Given the description of an element on the screen output the (x, y) to click on. 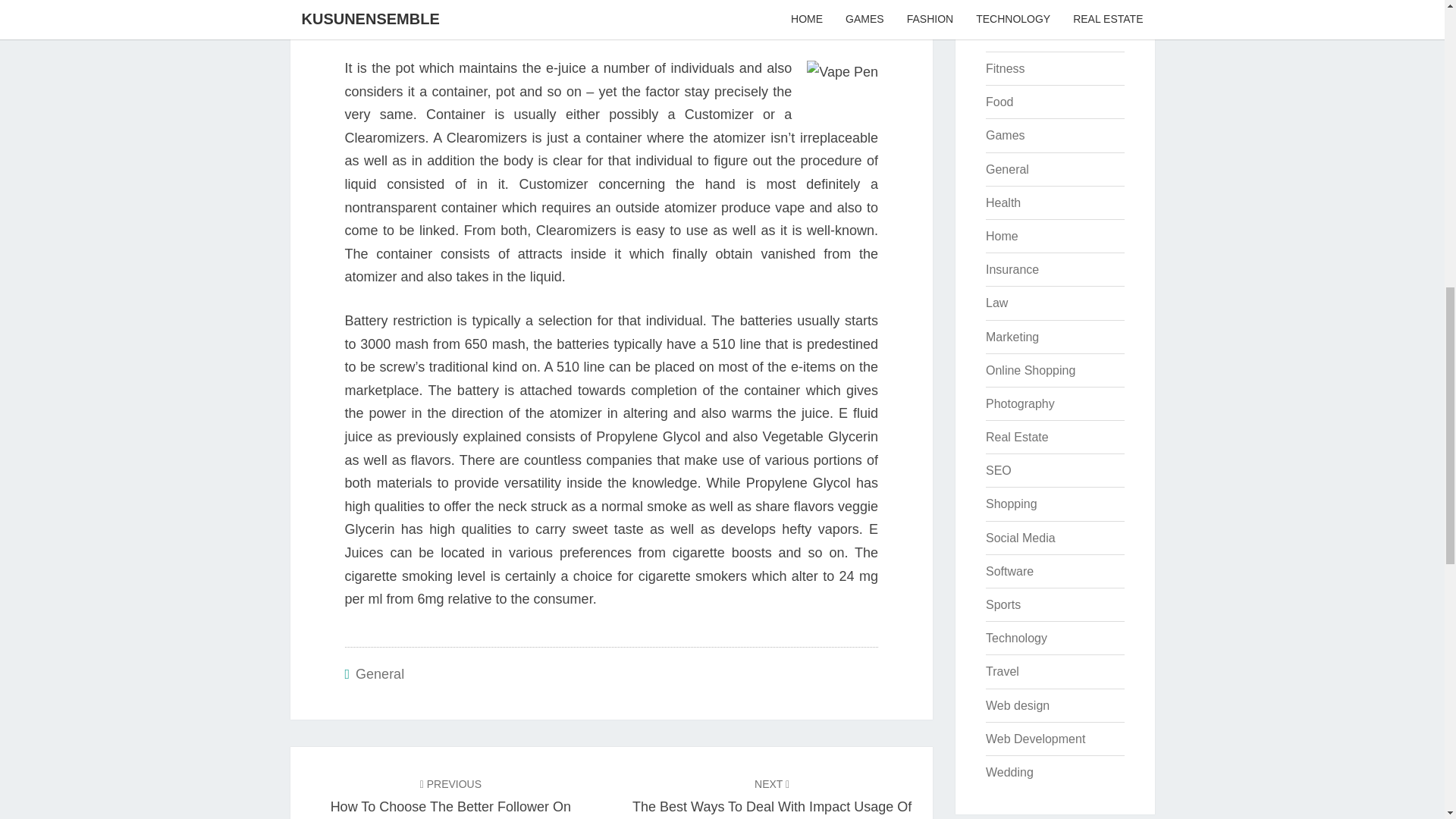
Shopping (1010, 503)
Photography (1019, 403)
Real Estate (1016, 436)
Social Media (1020, 537)
General (1007, 169)
General (379, 673)
Marketing (1012, 336)
Food (999, 101)
Finance (1007, 34)
